Given the description of an element on the screen output the (x, y) to click on. 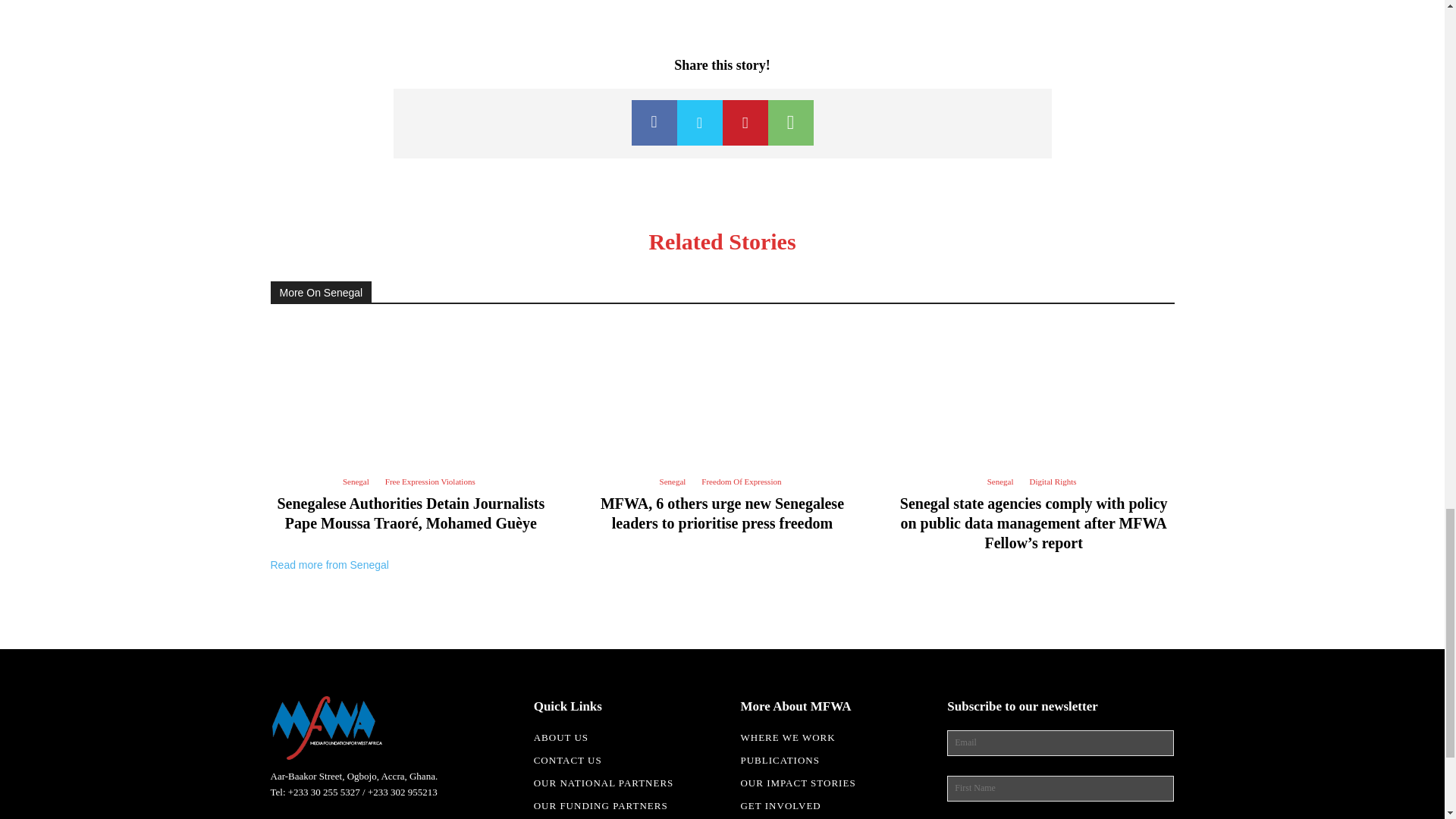
Pinterest (744, 122)
Twitter (699, 122)
Facebook (653, 122)
